Given the description of an element on the screen output the (x, y) to click on. 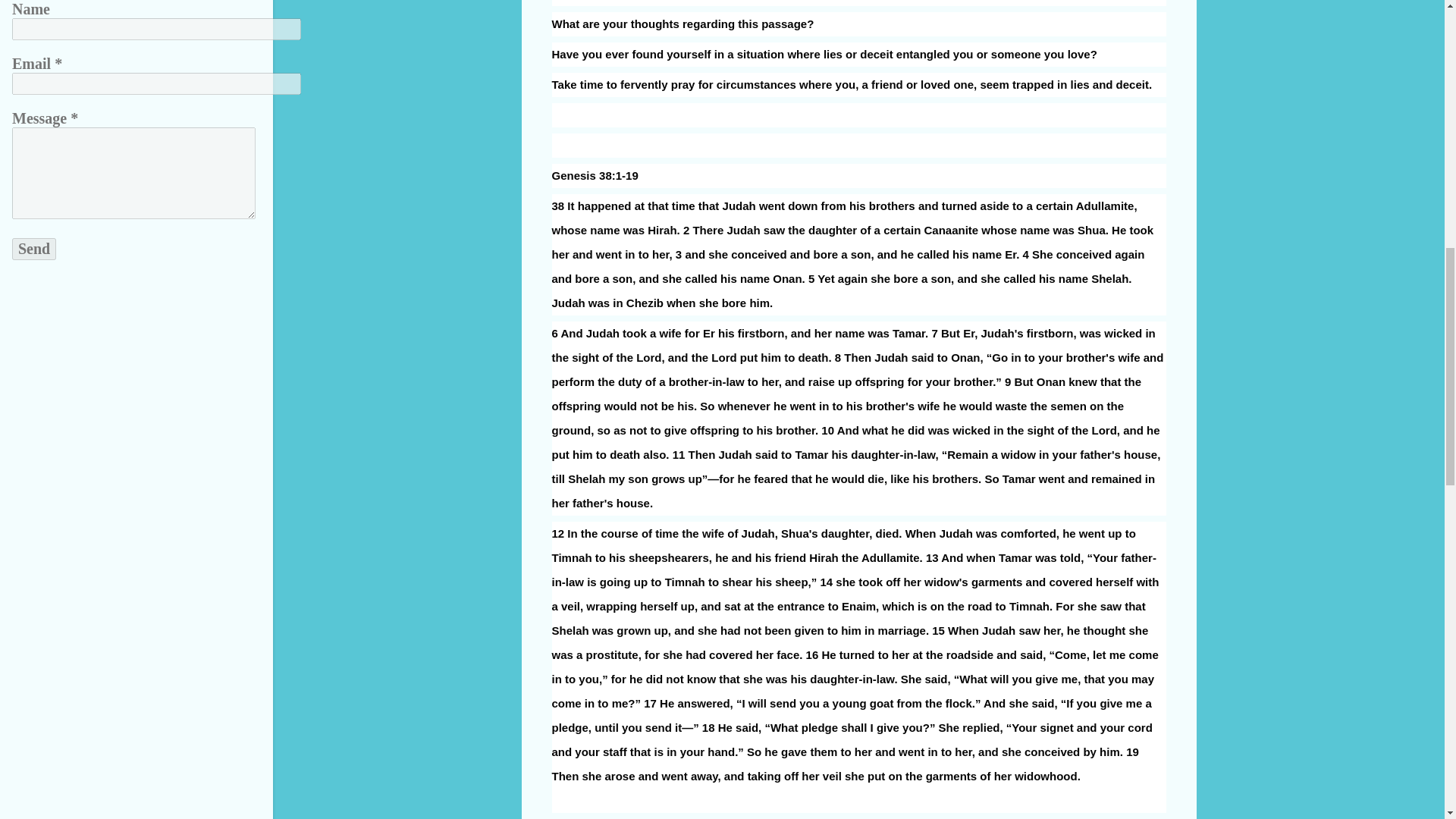
Send (33, 249)
